Given the description of an element on the screen output the (x, y) to click on. 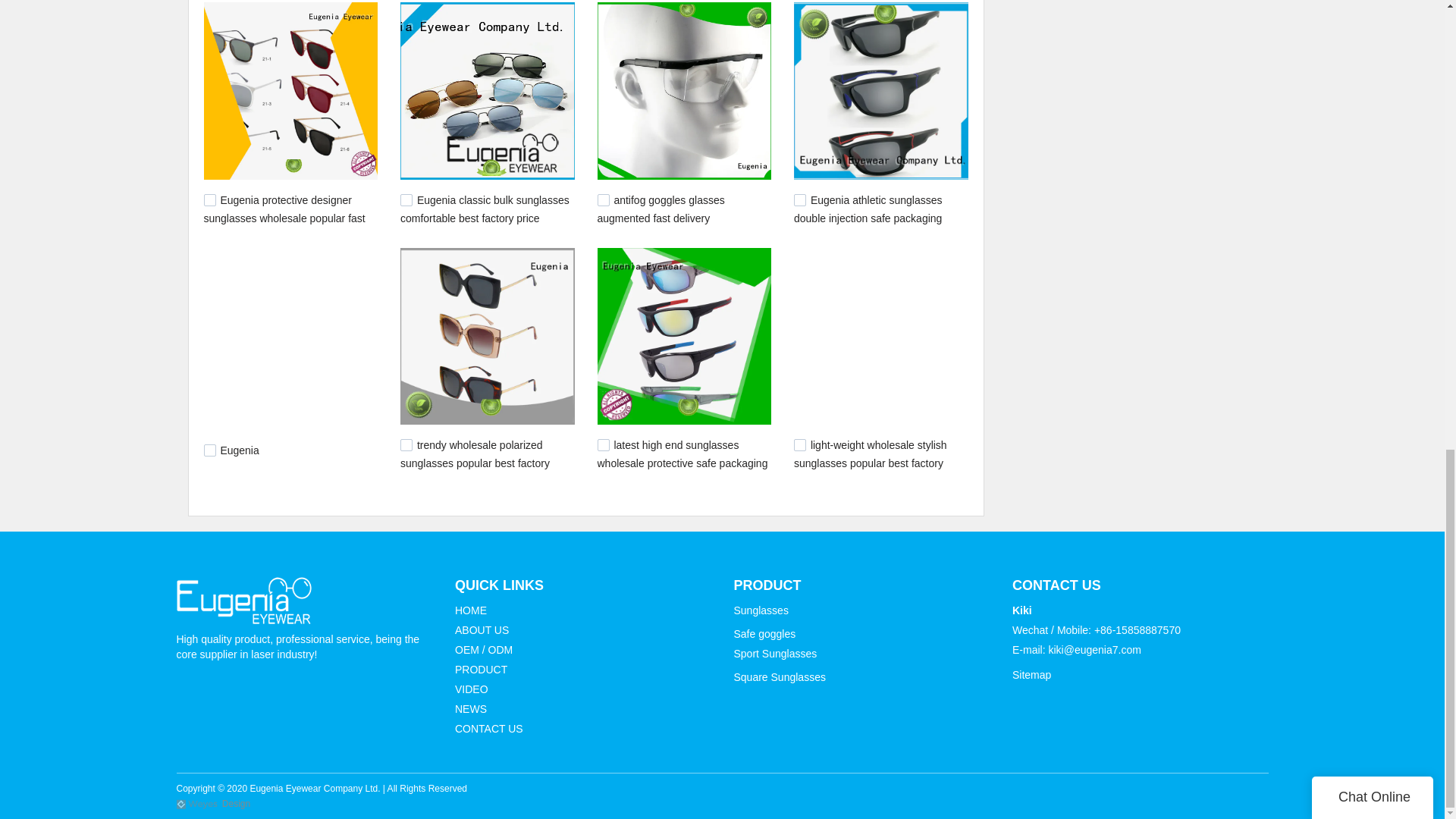
antifog goggles glasses augmented fast delivery (660, 209)
4332 (209, 200)
Eugenia (239, 450)
Eugenia athletic sunglasses double injection safe packaging (867, 209)
1793 (406, 444)
4276 (603, 200)
4293 (406, 200)
1121 (603, 444)
